Given the description of an element on the screen output the (x, y) to click on. 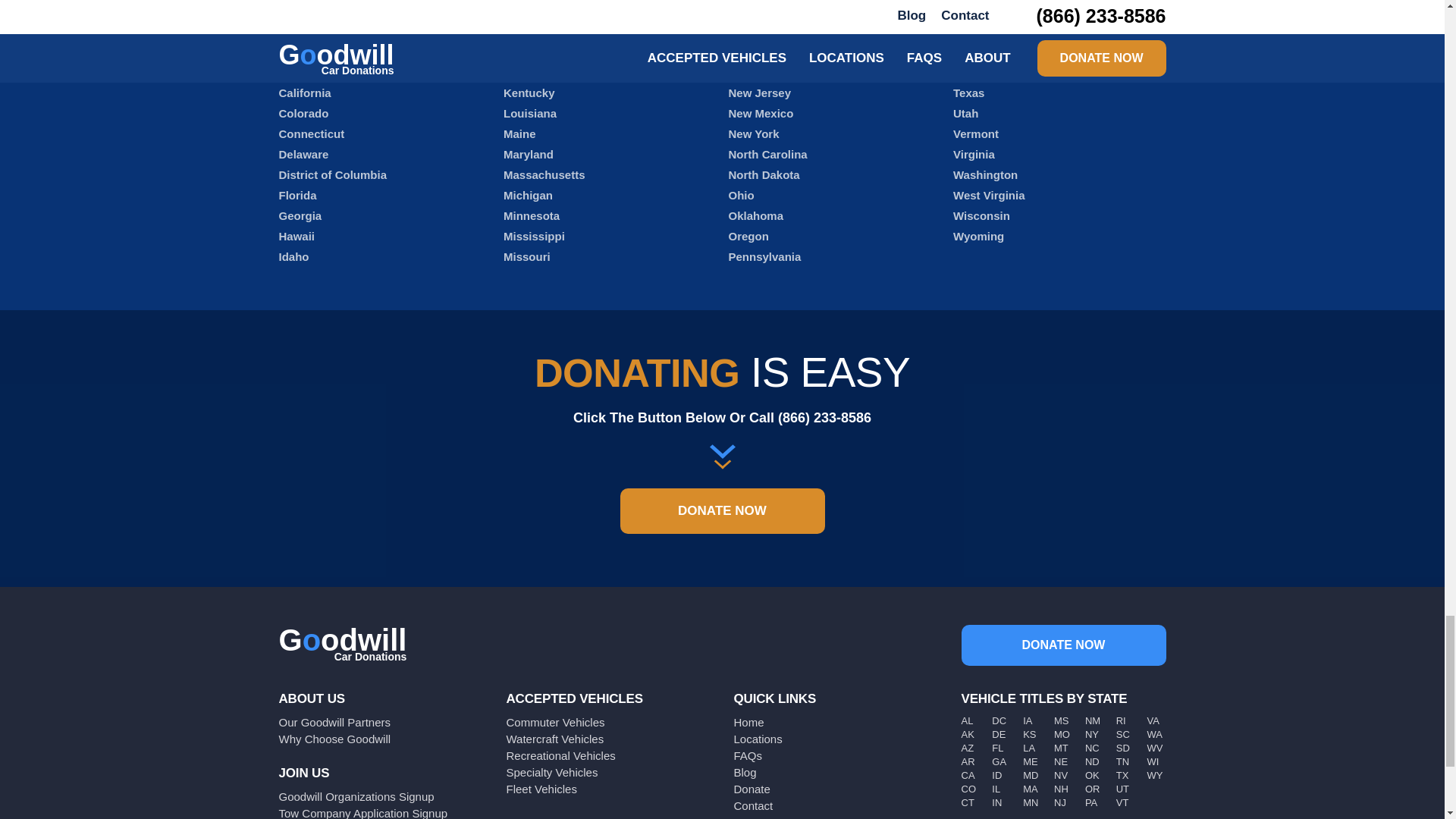
Colorado (304, 113)
Arkansas (304, 72)
California (305, 92)
Alaska (297, 31)
Arizona (299, 51)
Alabama (302, 10)
